Given the description of an element on the screen output the (x, y) to click on. 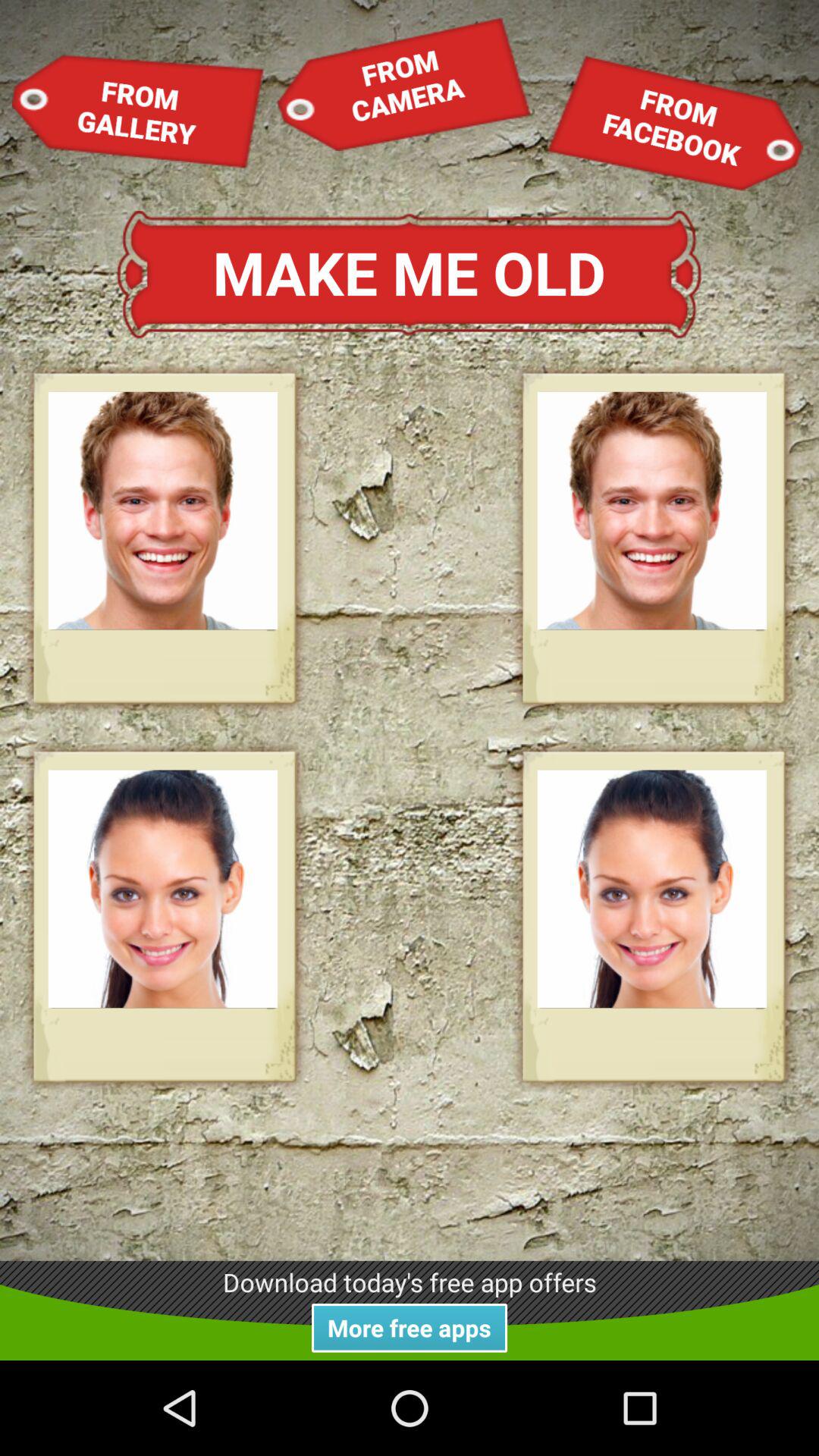
turn off the item to the right of the from
gallery item (403, 83)
